Given the description of an element on the screen output the (x, y) to click on. 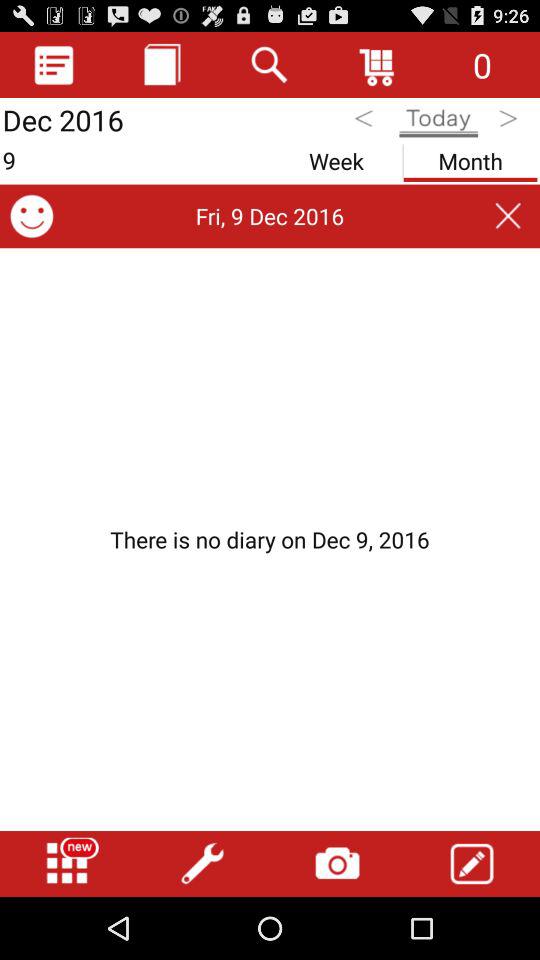
go to settings (202, 863)
